Given the description of an element on the screen output the (x, y) to click on. 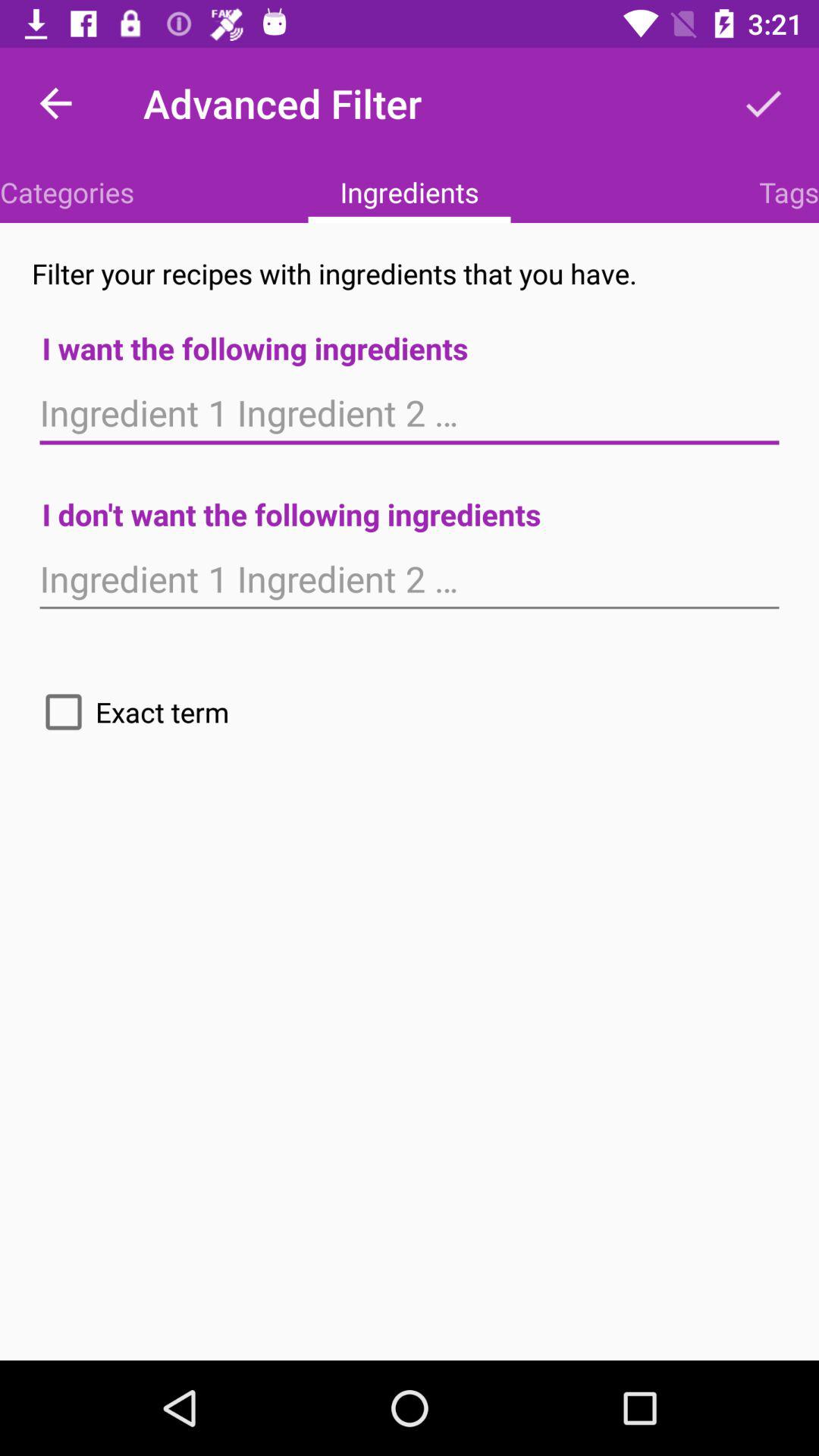
turn off the tags icon (789, 192)
